Given the description of an element on the screen output the (x, y) to click on. 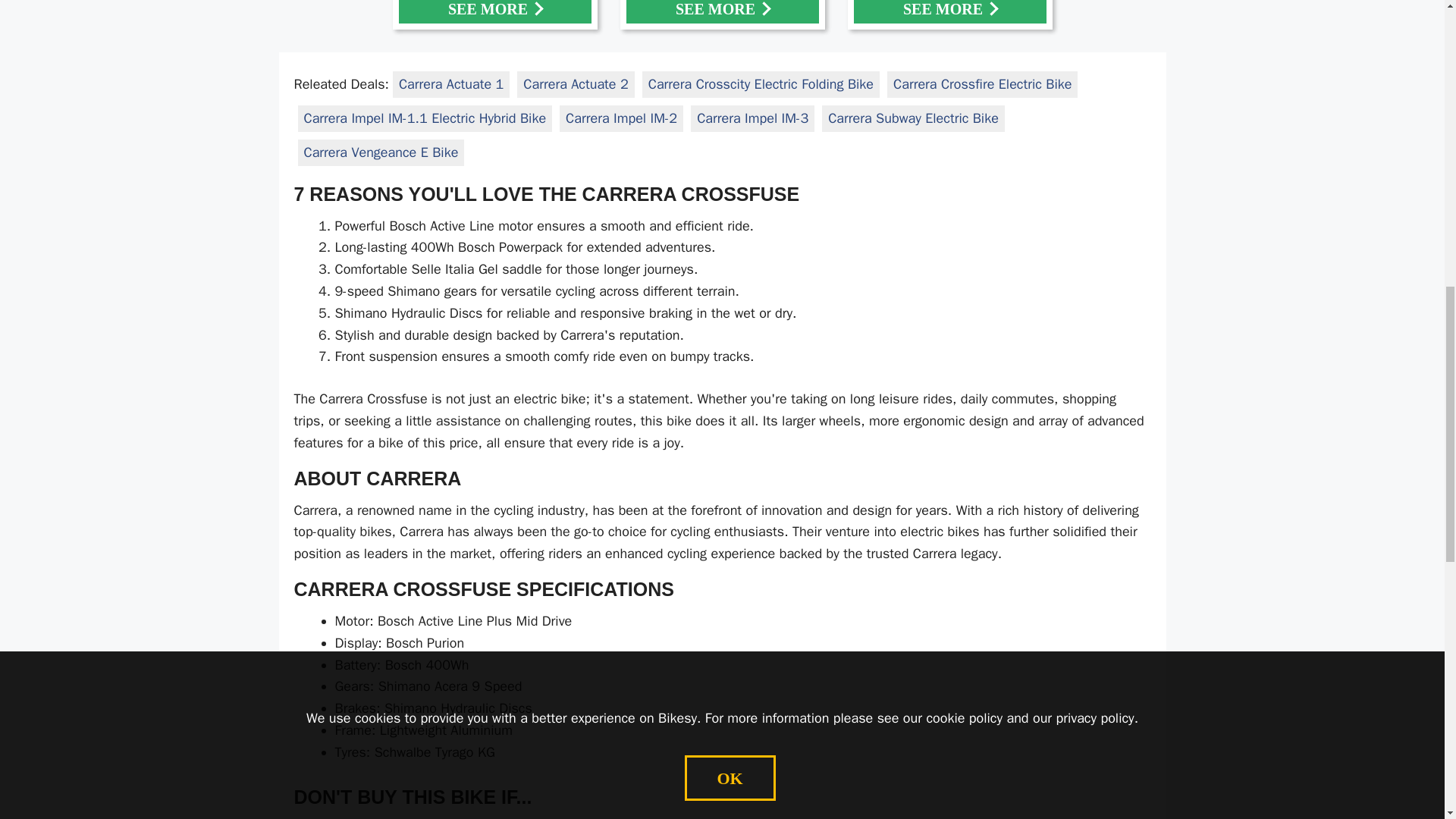
Carrera Impel IM-1.1 Electric Hybrid Bike (424, 117)
Carrera Crossfuse Mens Electric Hybrid Bike (494, 14)
Carrera Crossfuse Womens Electric Hybrid Bike (722, 14)
Carrera Actuate 1 (450, 84)
Carrera Crosscity Electric Folding Bike (760, 84)
Carrera Crossfire Electric Bike (982, 84)
Carrera Vengeance E Bike (380, 152)
Carrera Impel IM-3 (752, 117)
Carrera Impel IM-2 (621, 117)
Carrera Actuate 2 (574, 84)
Carrera Crossfuse Mens Electric Hybrid Bike (949, 14)
Carrera Subway Electric Bike (913, 117)
